Given the description of an element on the screen output the (x, y) to click on. 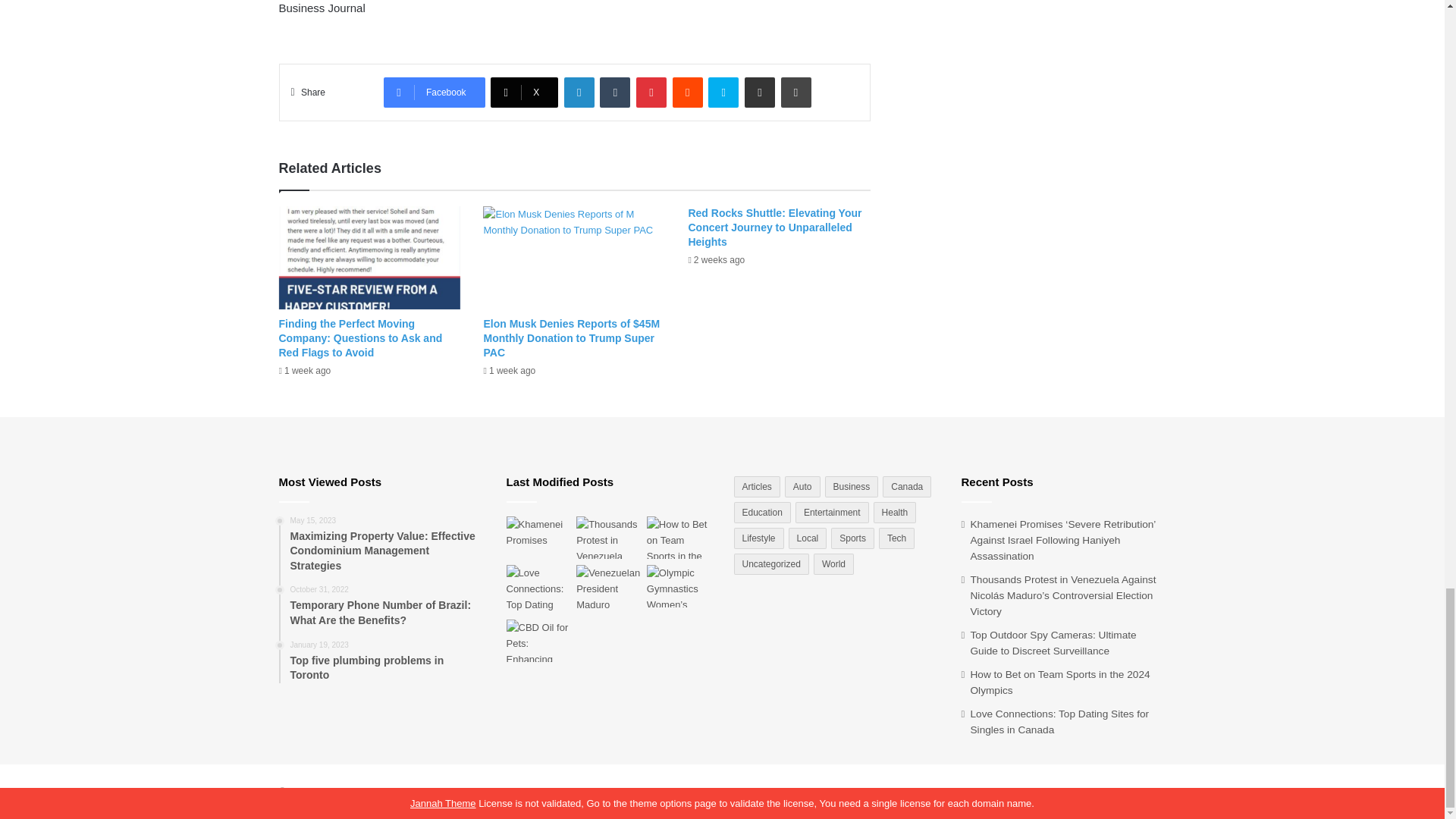
X (523, 91)
Tumblr (614, 91)
Reddit (687, 91)
Skype (722, 91)
Pinterest (651, 91)
Tumblr (614, 91)
LinkedIn (579, 91)
Reddit (687, 91)
Pinterest (651, 91)
Facebook (434, 91)
X (523, 91)
Facebook (434, 91)
LinkedIn (579, 91)
Skype (722, 91)
